Given the description of an element on the screen output the (x, y) to click on. 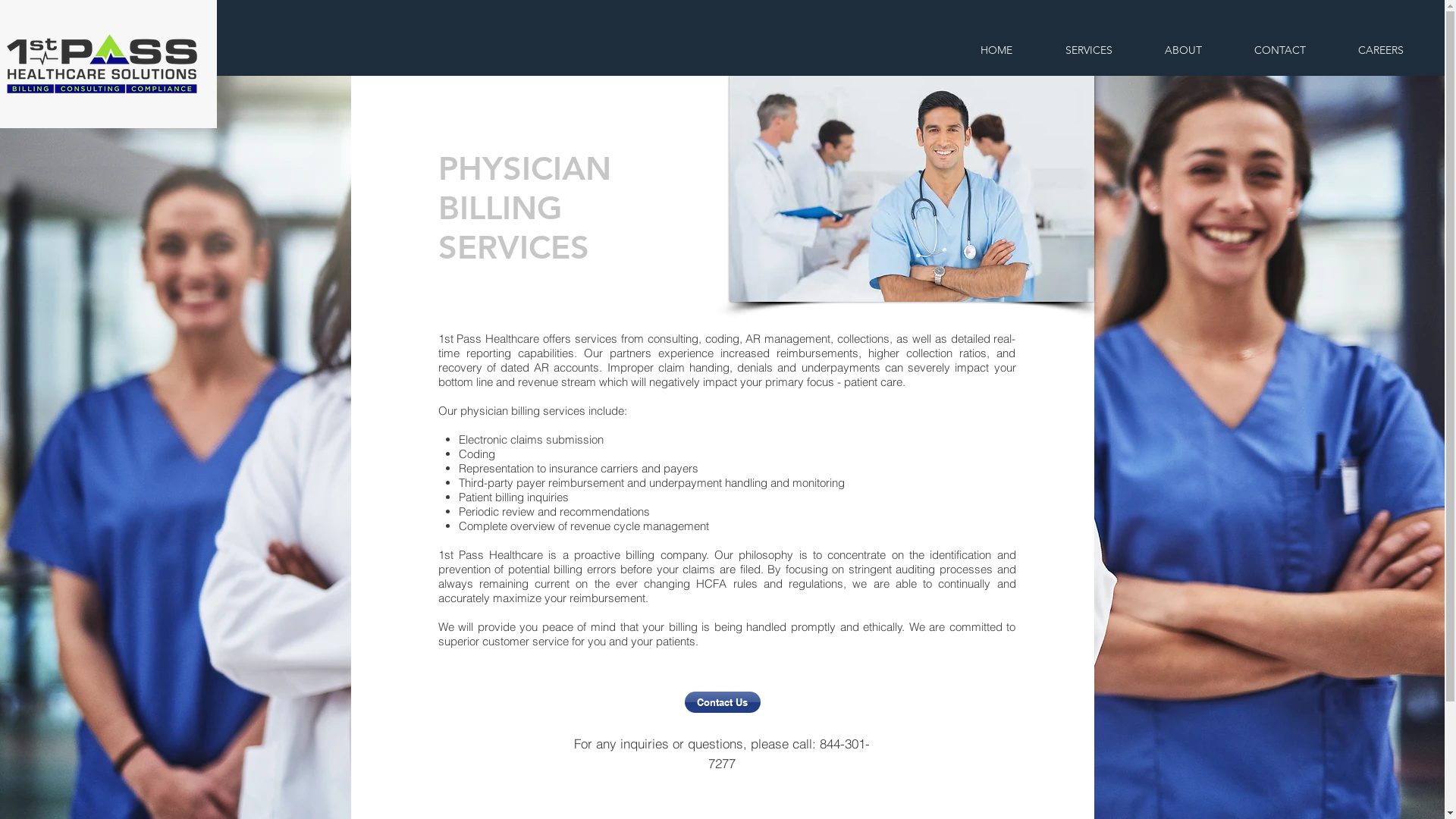
CONTACT Element type: text (1279, 50)
ABOUT Element type: text (1182, 50)
SERVICES Element type: text (1088, 50)
HOME Element type: text (995, 50)
Contact Us Element type: text (721, 701)
CAREERS Element type: text (1380, 50)
